Given the description of an element on the screen output the (x, y) to click on. 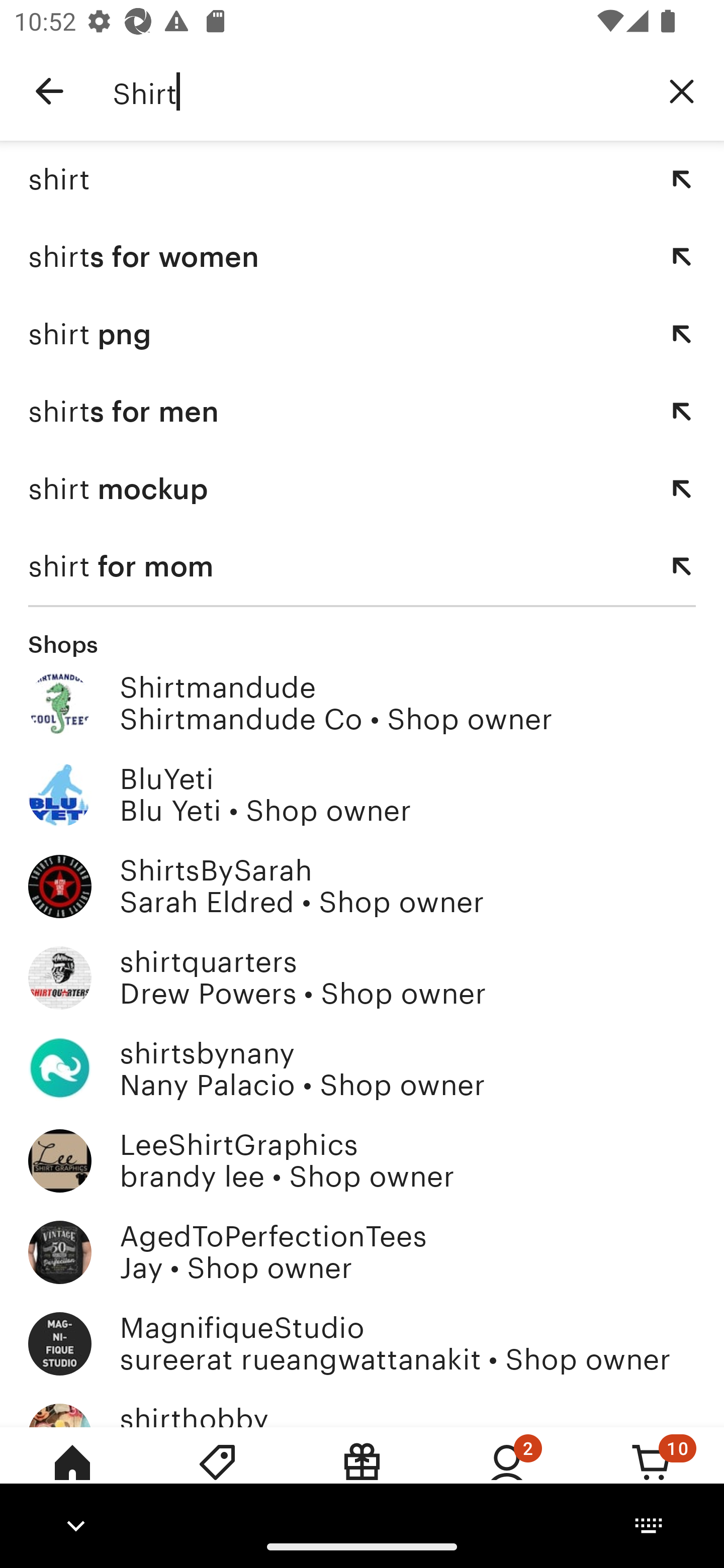
Navigate up (49, 91)
Clear query (681, 90)
Shirt (375, 91)
Populate the search field with shirt suggestion (681, 179)
Deals (216, 1475)
Gift Mode (361, 1475)
You, 2 new notifications (506, 1475)
Cart, 10 new notifications (651, 1475)
